Given the description of an element on the screen output the (x, y) to click on. 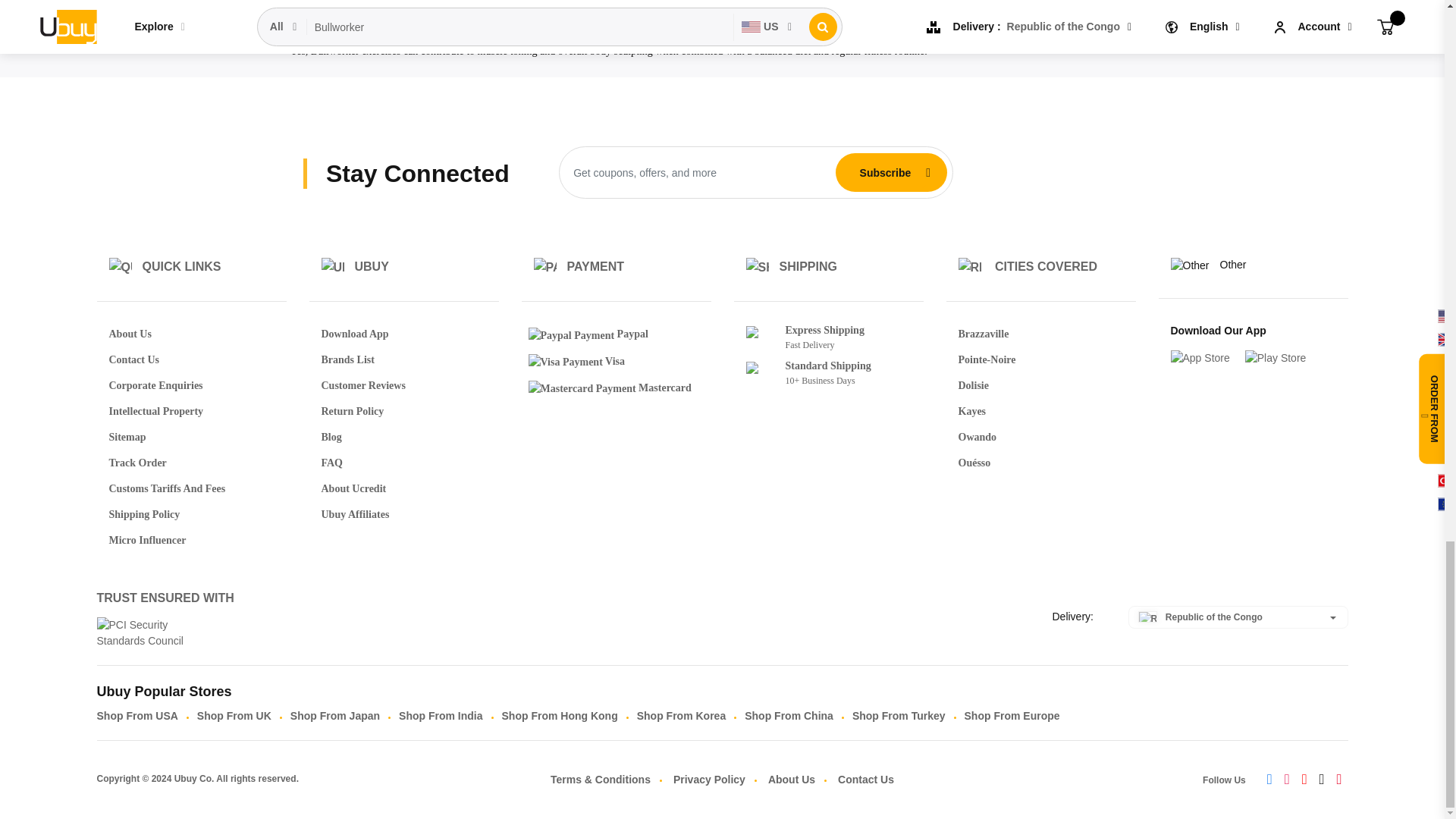
Subscribe (885, 172)
